Given the description of an element on the screen output the (x, y) to click on. 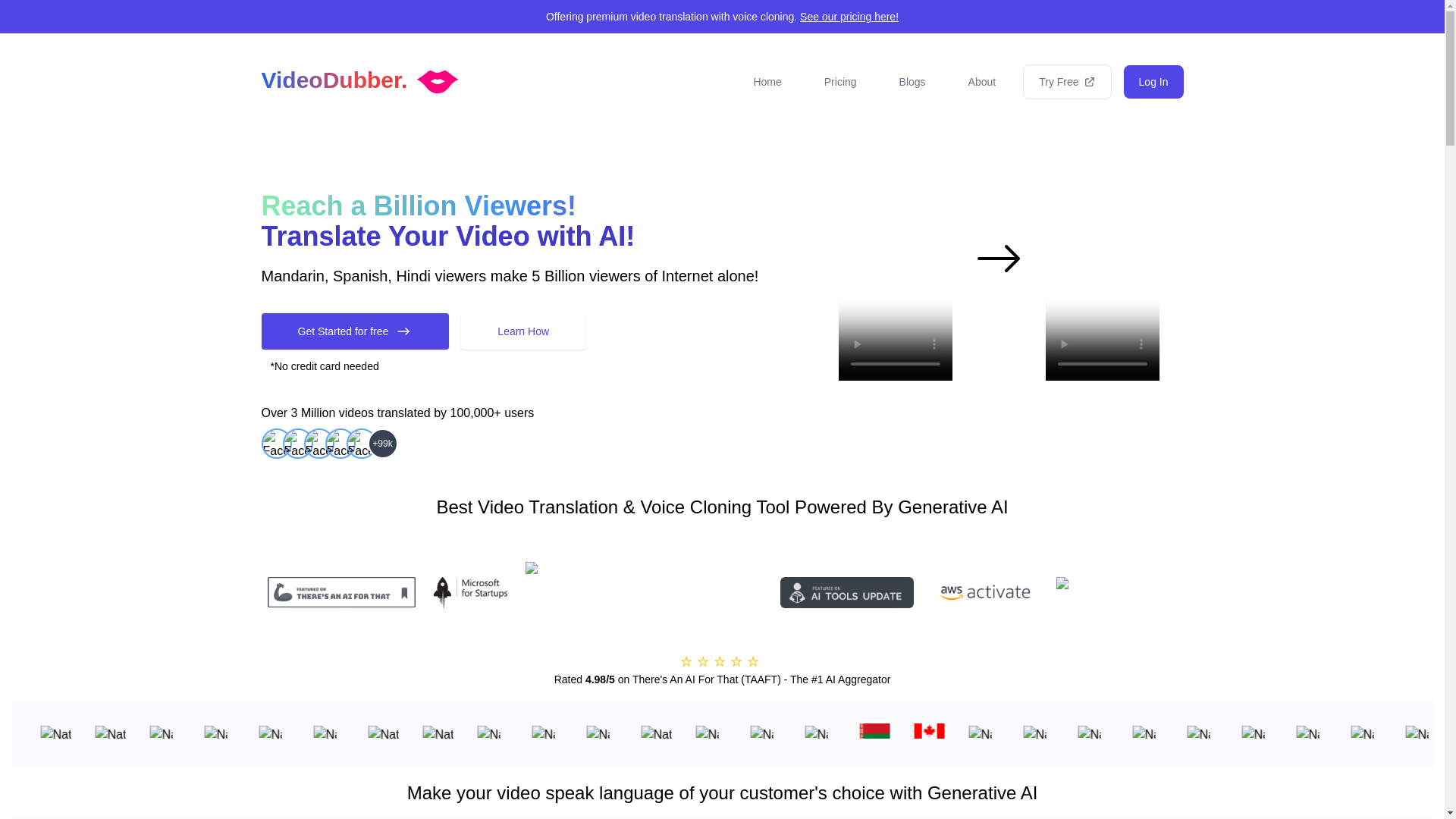
Get Started for free (354, 330)
About (982, 81)
Home (767, 81)
Log In (1153, 81)
Learn How (523, 330)
Blogs (911, 81)
Try Free (1066, 81)
See our pricing here! (848, 16)
VideoDubber. (360, 79)
Pricing (840, 81)
